Given the description of an element on the screen output the (x, y) to click on. 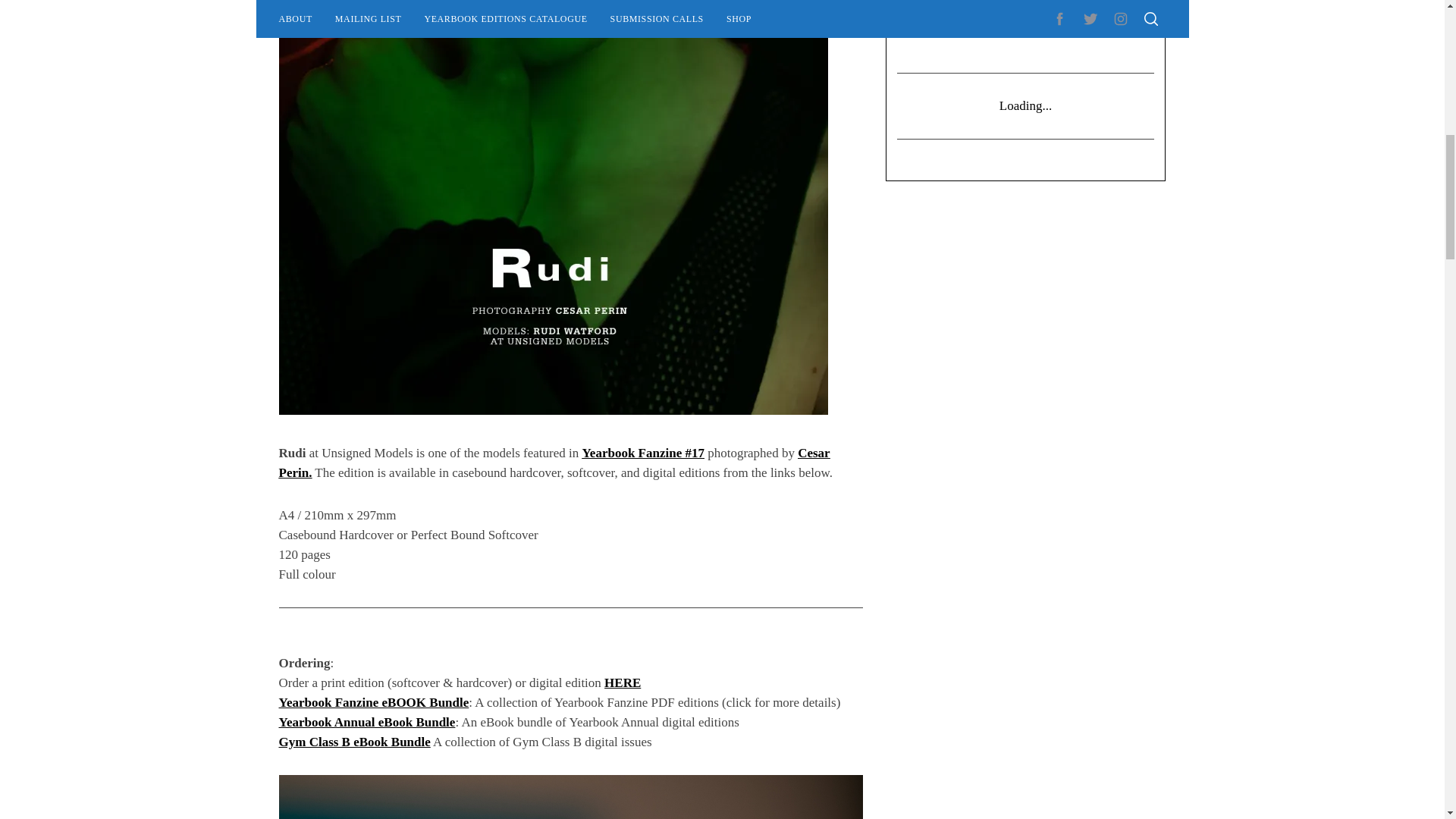
HERE (622, 682)
Yearbook Fanzine eBOOK Bundle (373, 702)
Cesar Perin. (554, 462)
Gym Class B eBook Bundle (354, 741)
Yearbook Annual eBook Bundle (367, 721)
